Given the description of an element on the screen output the (x, y) to click on. 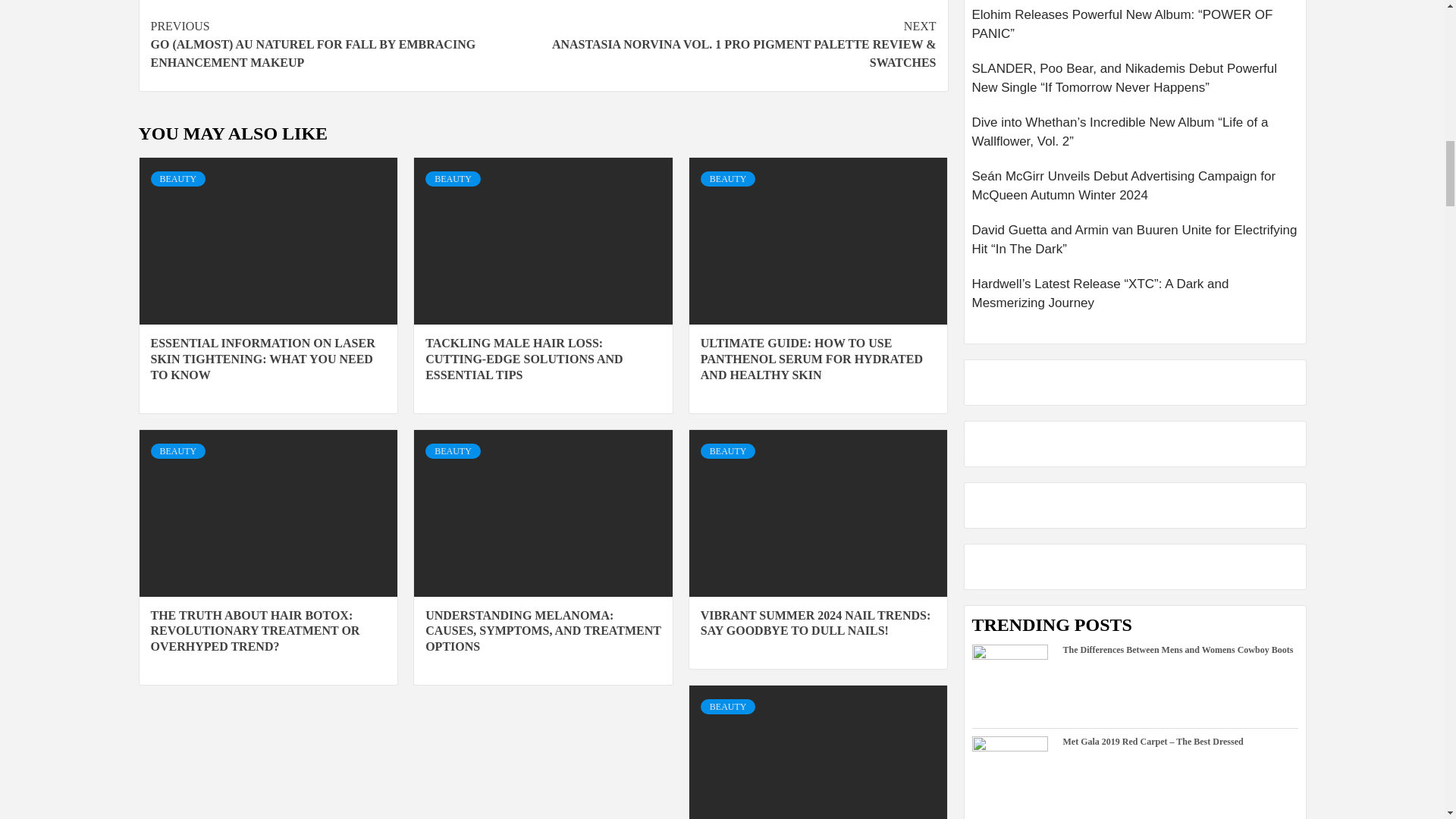
BEAUTY (177, 178)
BEAUTY (452, 178)
